Given the description of an element on the screen output the (x, y) to click on. 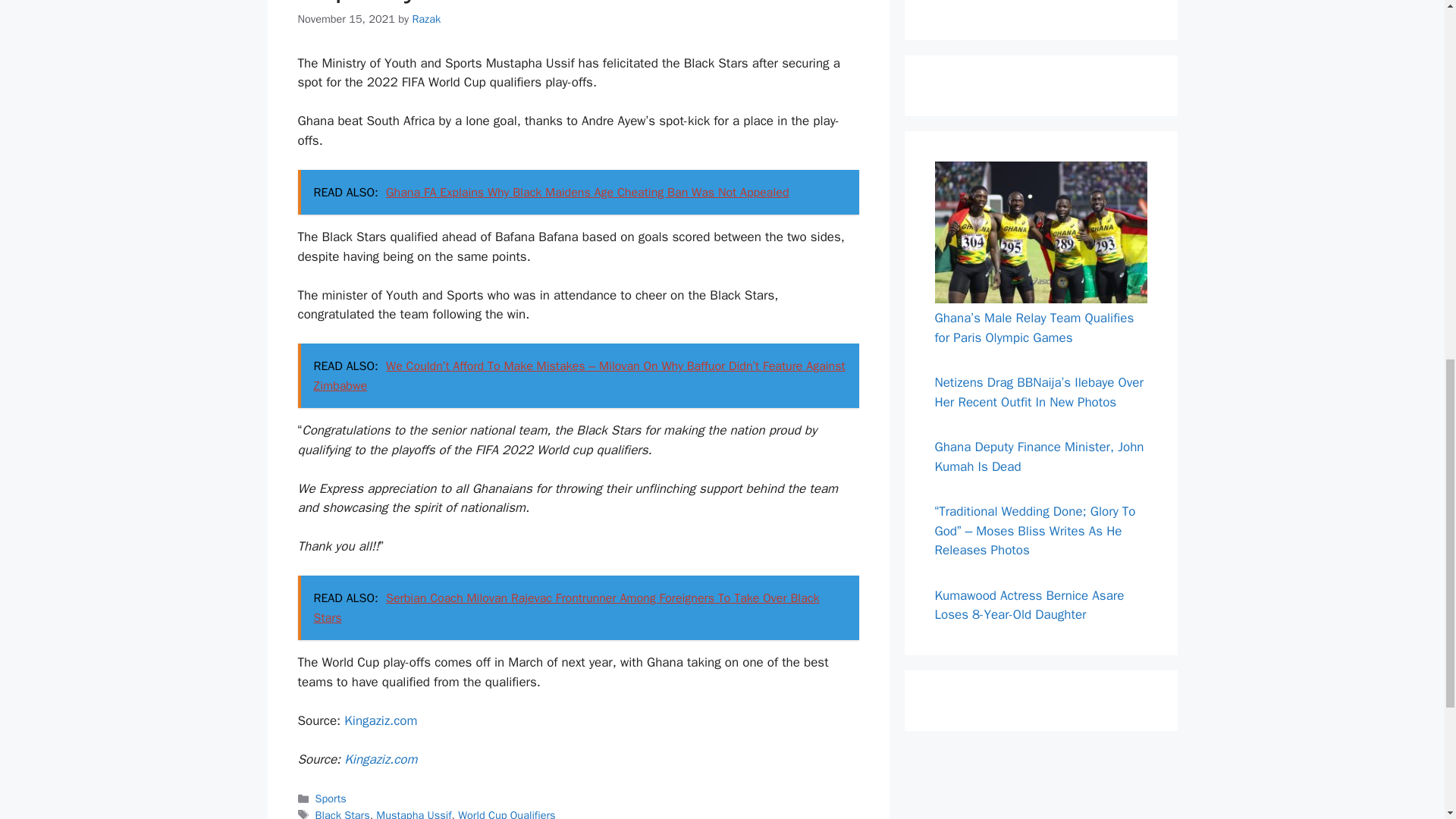
Kingaziz.com (379, 759)
Sports (330, 798)
Razak (426, 18)
Kumawood Actress Bernice Asare Loses 8-Year-Old Daughter (1029, 605)
Mustapha Ussif (413, 813)
View all posts by Razak (426, 18)
Ghana Deputy Finance Minister, John Kumah Is Dead (1038, 456)
Black Stars (342, 813)
World Cup Qualifiers (506, 813)
